Given the description of an element on the screen output the (x, y) to click on. 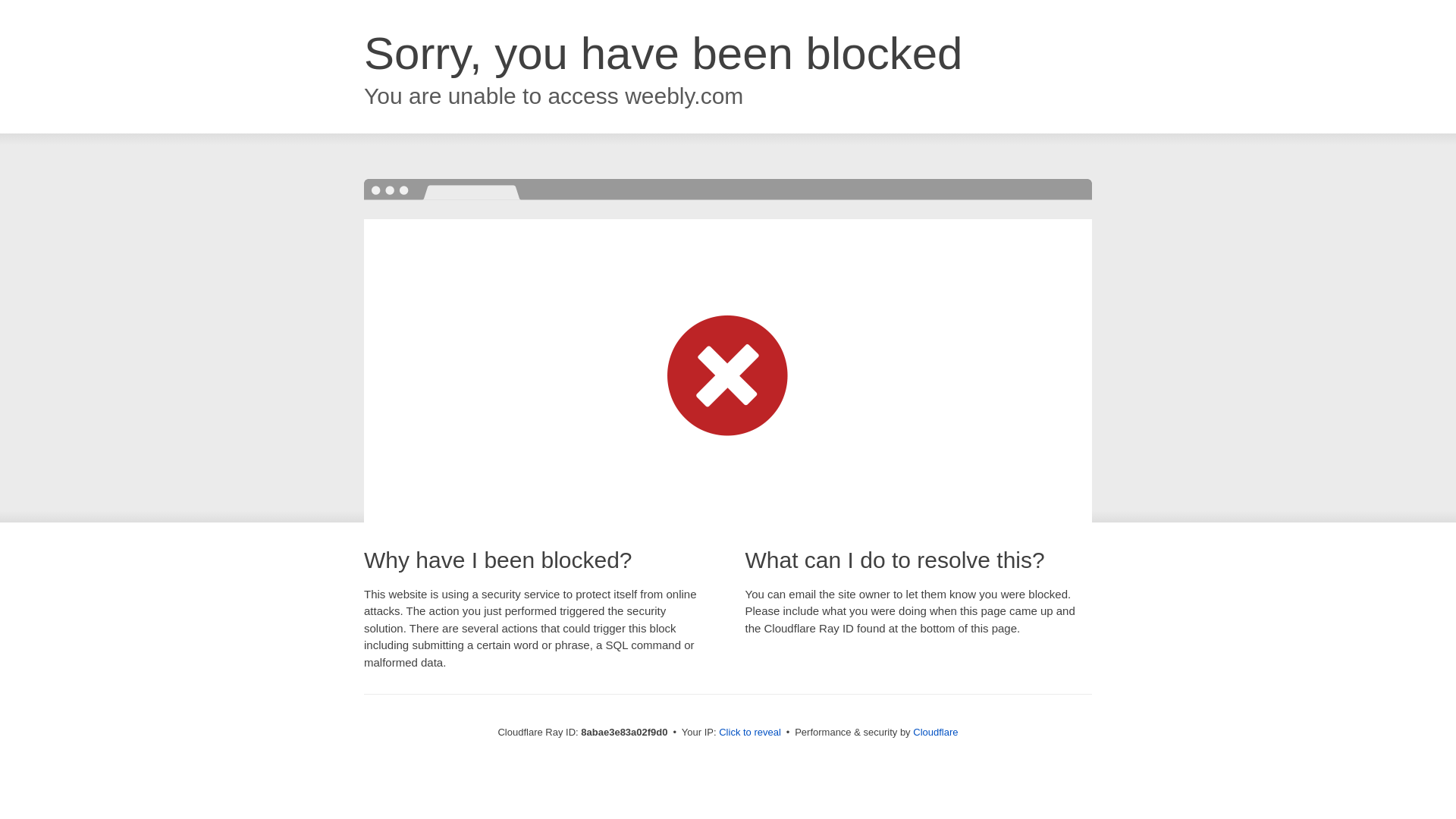
Click to reveal (749, 732)
Cloudflare (935, 731)
